Given the description of an element on the screen output the (x, y) to click on. 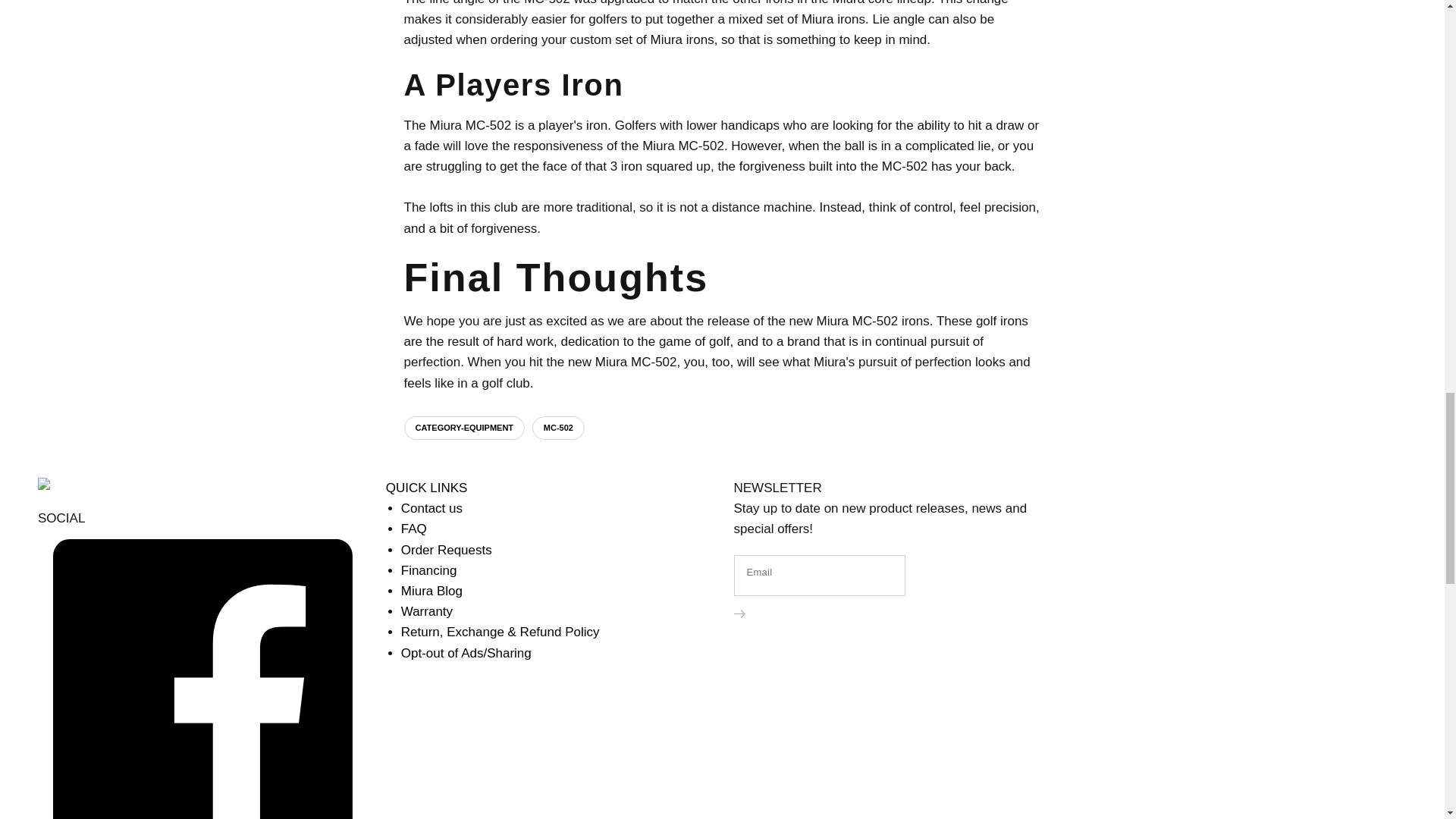
Contact us (432, 508)
Financing (429, 570)
Order Requests (446, 549)
Miura Blog (432, 590)
FAQ (413, 528)
